Given the description of an element on the screen output the (x, y) to click on. 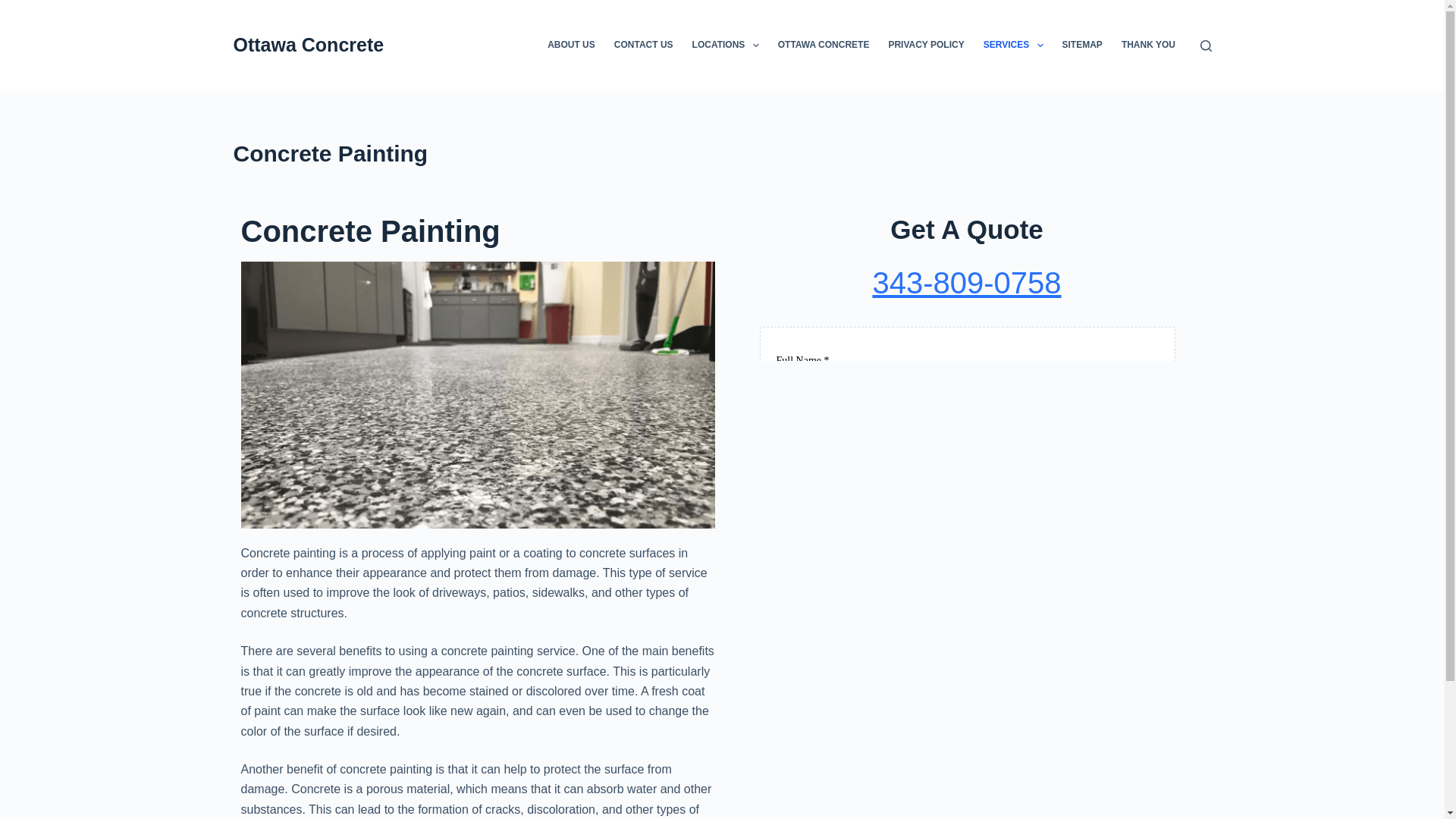
OTTAWA CONCRETE (823, 45)
Ottawa Concrete (308, 44)
Concrete Painting (721, 153)
Website Lead Form (965, 323)
PRIVACY POLICY (926, 45)
Skip to content (15, 7)
LOCATIONS (725, 45)
